Given the description of an element on the screen output the (x, y) to click on. 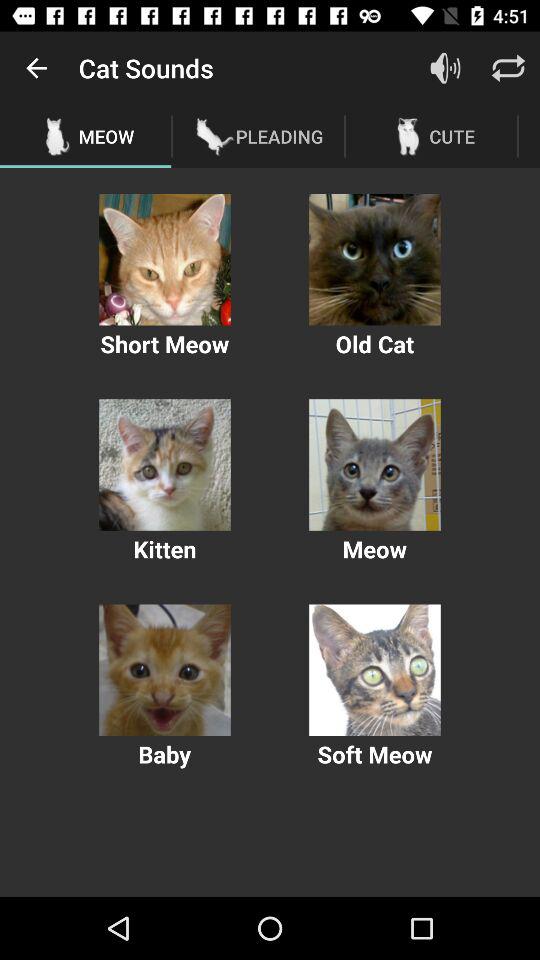
click item above cute icon (444, 67)
